Given the description of an element on the screen output the (x, y) to click on. 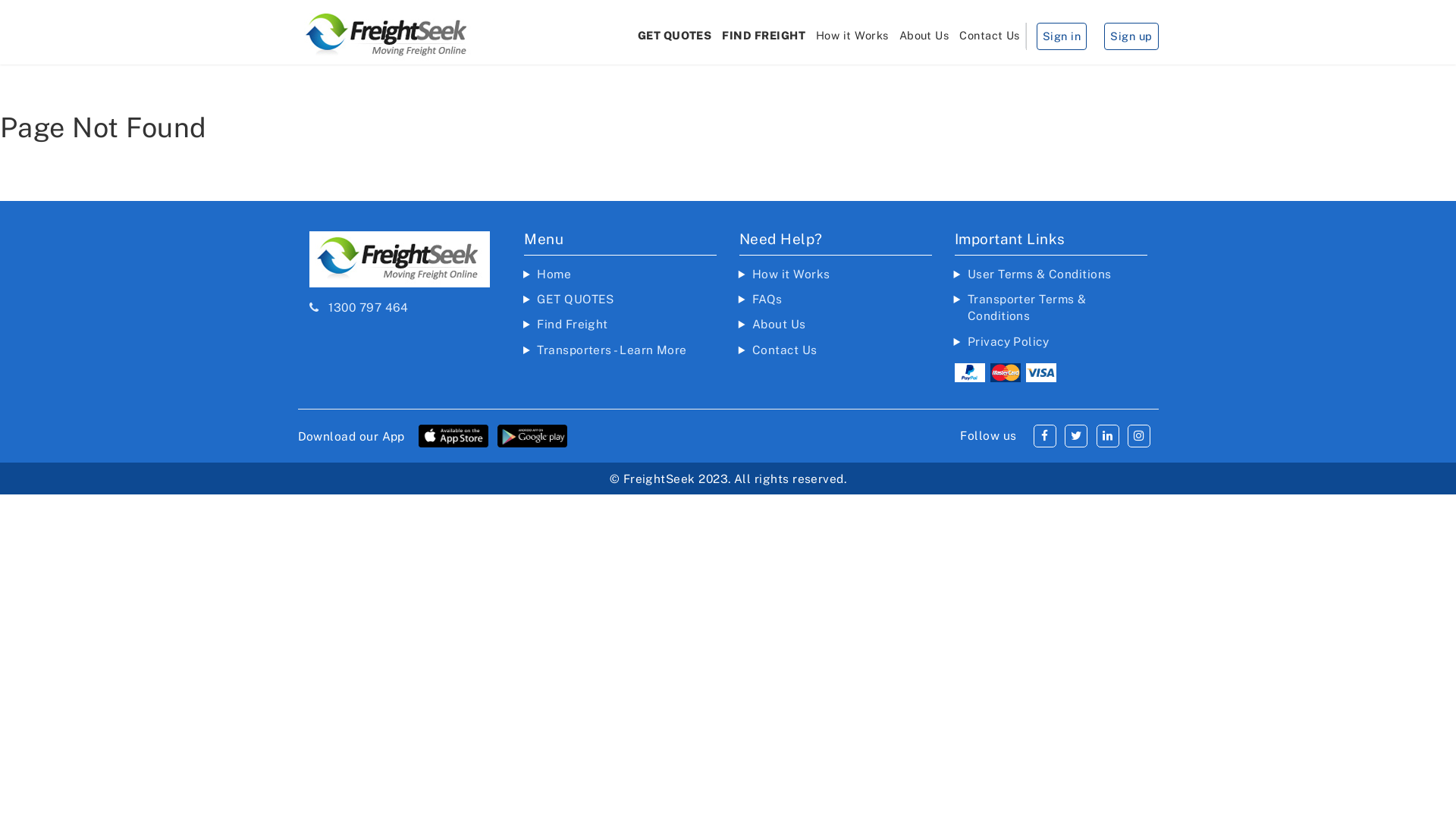
Find Freight Element type: text (572, 323)
About Us Element type: text (924, 35)
How it Works Element type: text (852, 35)
FAQs Element type: text (767, 298)
Transporters - Learn More Element type: text (611, 349)
Transporter Terms & Conditions Element type: text (1026, 306)
How it Works Element type: text (791, 273)
Contact Us Element type: text (784, 349)
Privacy Policy Element type: text (1008, 341)
GET QUOTES Element type: text (575, 298)
Sign up Element type: text (1130, 36)
User Terms & Conditions Element type: text (1039, 273)
Contact Us Element type: text (989, 35)
Home Element type: text (553, 273)
FIND FREIGHT Element type: text (763, 35)
GET QUOTES Element type: text (674, 35)
Sign in Element type: text (1061, 36)
About Us Element type: text (779, 323)
